Given the description of an element on the screen output the (x, y) to click on. 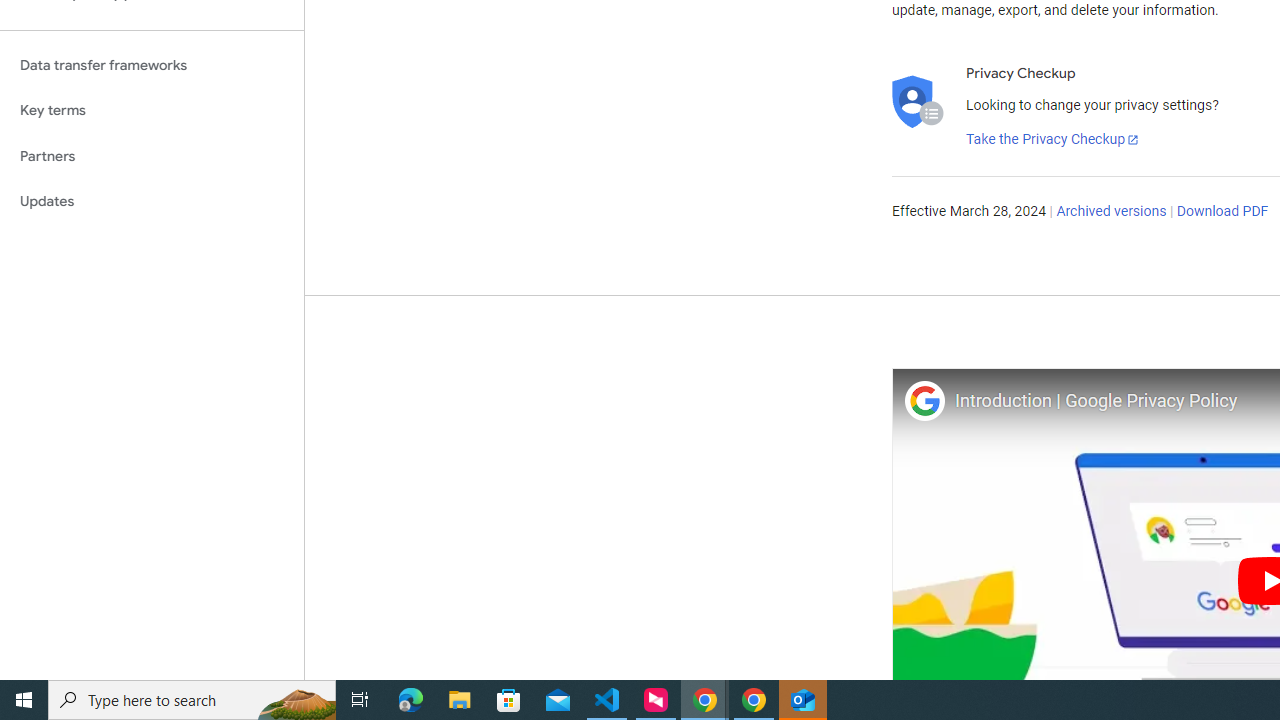
Download PDF (1222, 212)
Photo image of Google (924, 400)
Archived versions (1111, 212)
Take the Privacy Checkup (1053, 140)
